Given the description of an element on the screen output the (x, y) to click on. 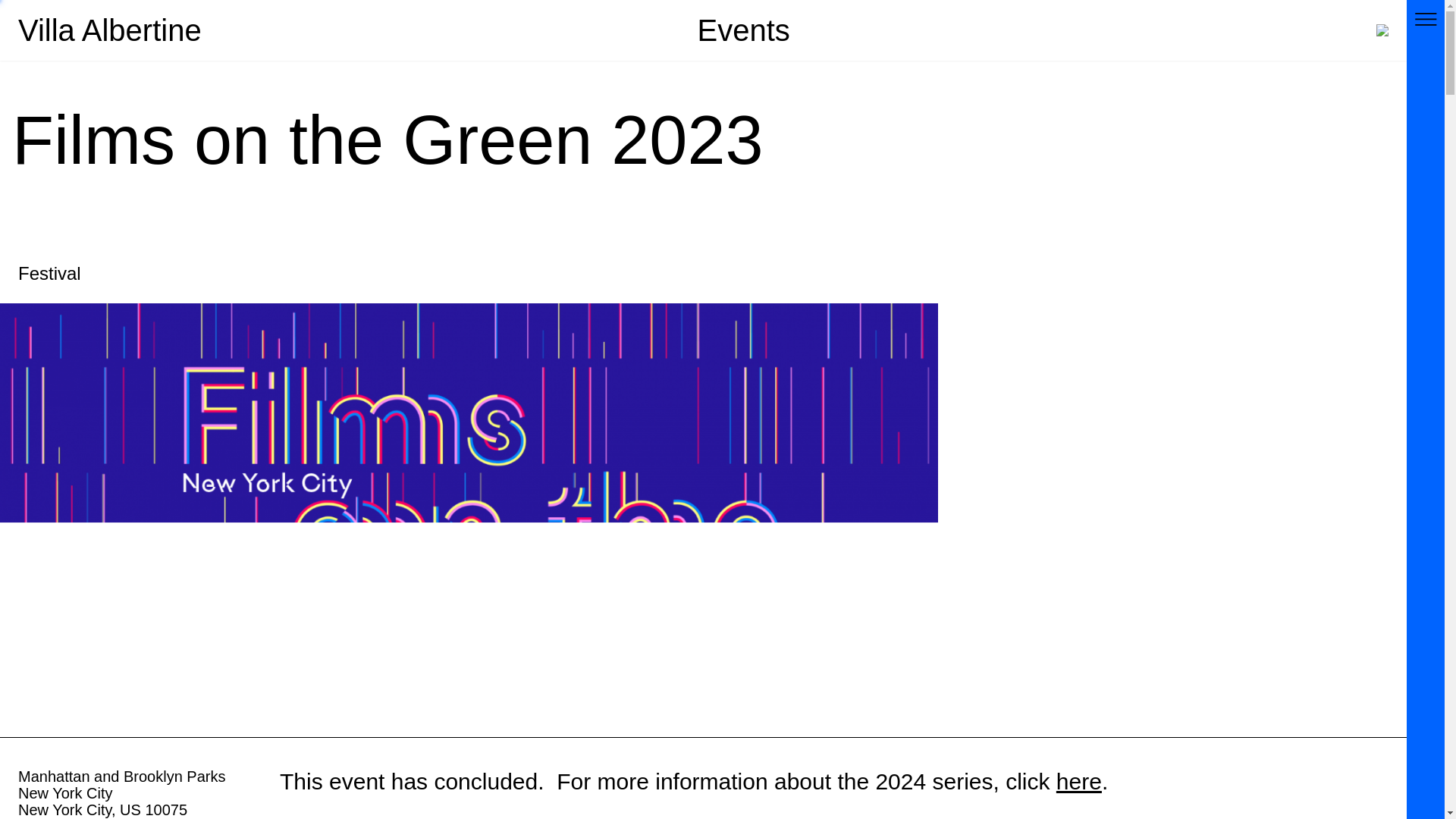
here (1079, 781)
Villa Albertine (109, 29)
Events (743, 29)
Skip to main (722, 18)
